Given the description of an element on the screen output the (x, y) to click on. 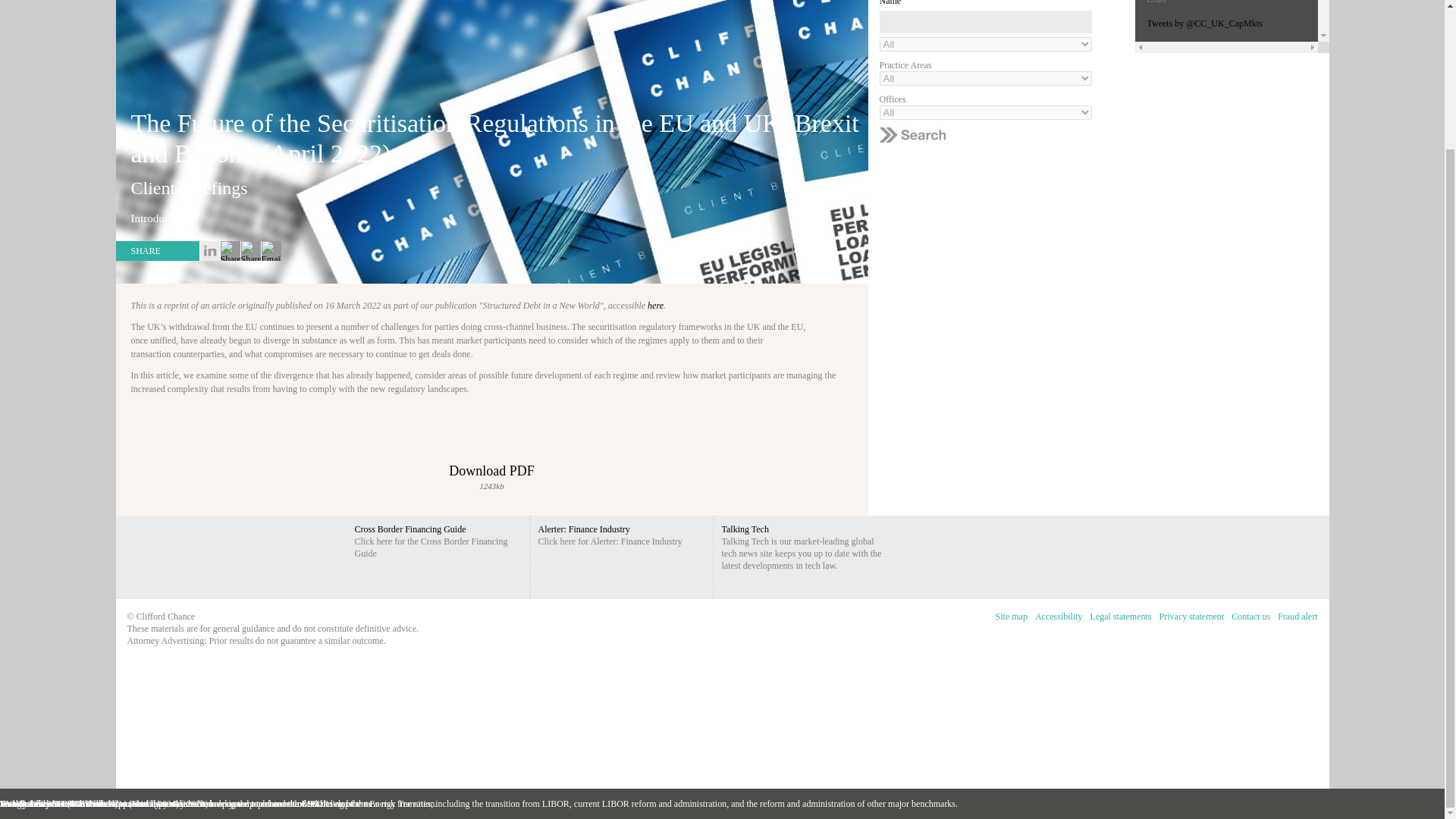
Site map (1010, 616)
Accessibility (1058, 616)
Fraud alert (1297, 616)
Privacy statement (1192, 616)
Download (491, 452)
Contact us (1250, 616)
